Given the description of an element on the screen output the (x, y) to click on. 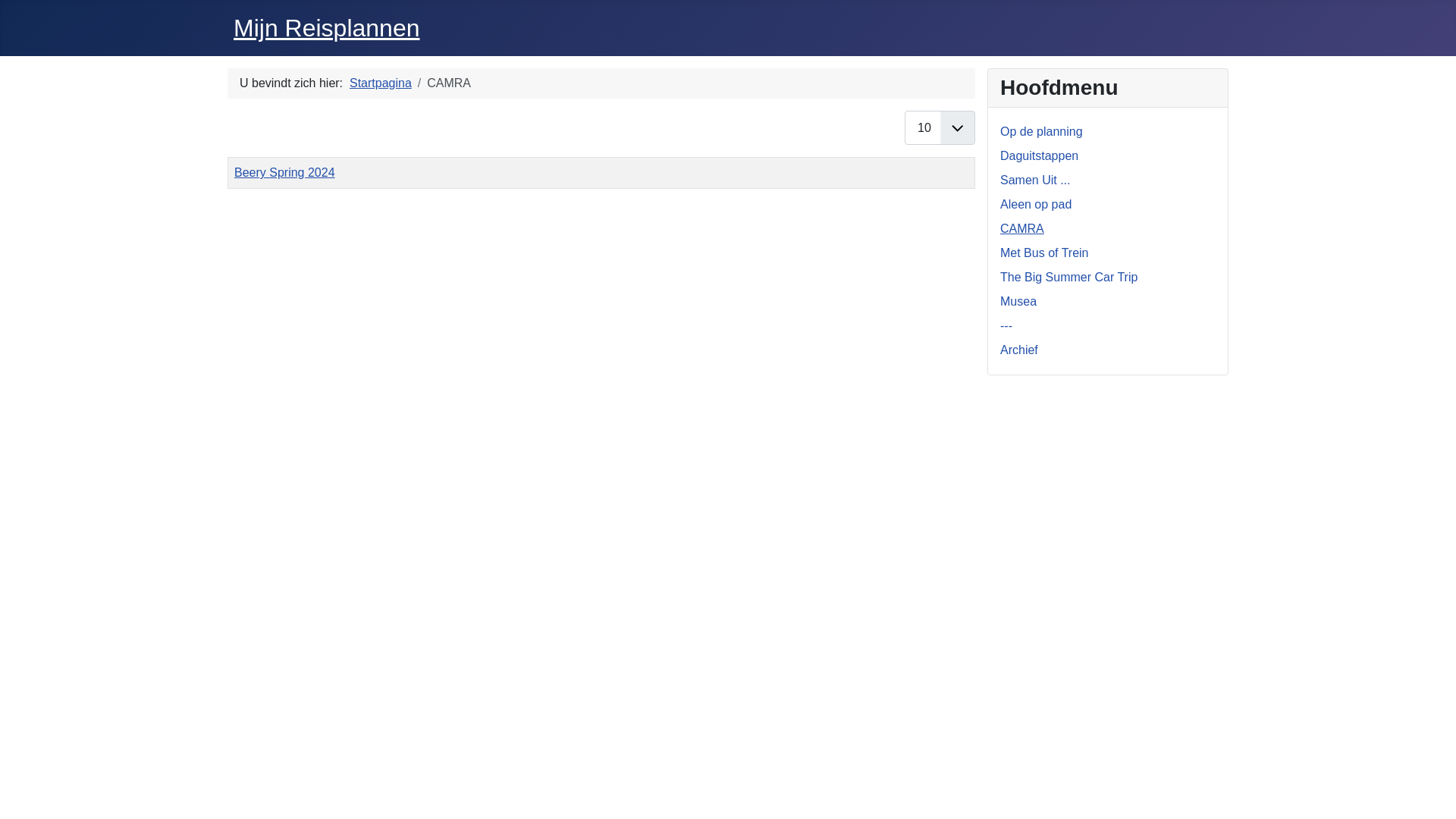
Startpagina Element type: text (380, 82)
CAMRA Element type: text (1022, 228)
Beery Spring 2024 Element type: text (284, 172)
The Big Summer Car Trip Element type: text (1068, 276)
Mijn Reisplannen Element type: text (326, 27)
Samen Uit ... Element type: text (1035, 179)
Met Bus of Trein Element type: text (1044, 252)
--- Element type: text (1006, 325)
Aleen op pad Element type: text (1035, 203)
Archief Element type: text (1019, 349)
Daguitstappen Element type: text (1039, 155)
Musea Element type: text (1018, 300)
Op de planning Element type: text (1041, 131)
